Given the description of an element on the screen output the (x, y) to click on. 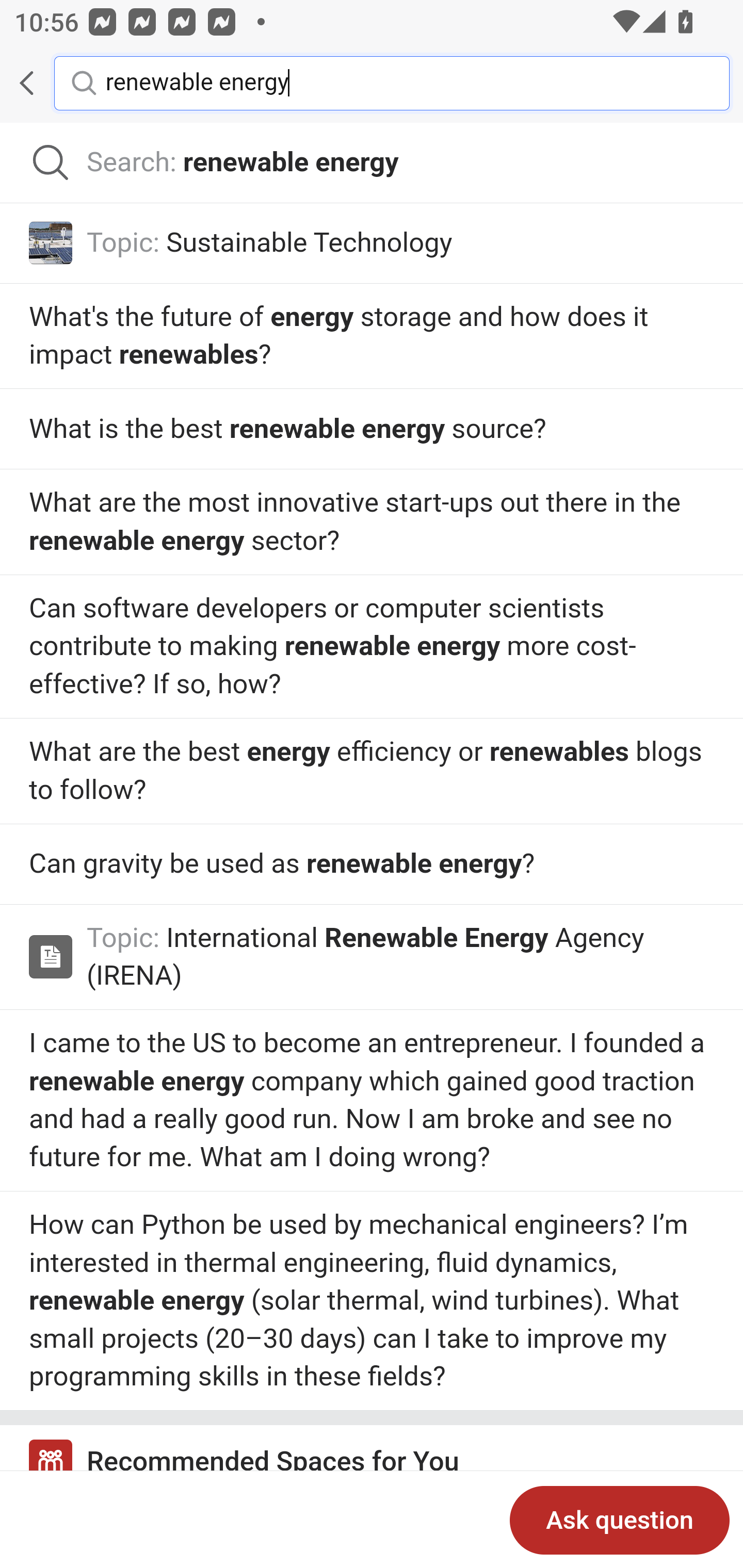
Me Home Search Add (371, 82)
renewable energy (402, 82)
Search: ren (371, 162)
Icon for Sustainable Technology (50, 241)
What is the best renewable energy source? (371, 646)
Can gravity be used as renewable energy? (371, 1099)
